Given the description of an element on the screen output the (x, y) to click on. 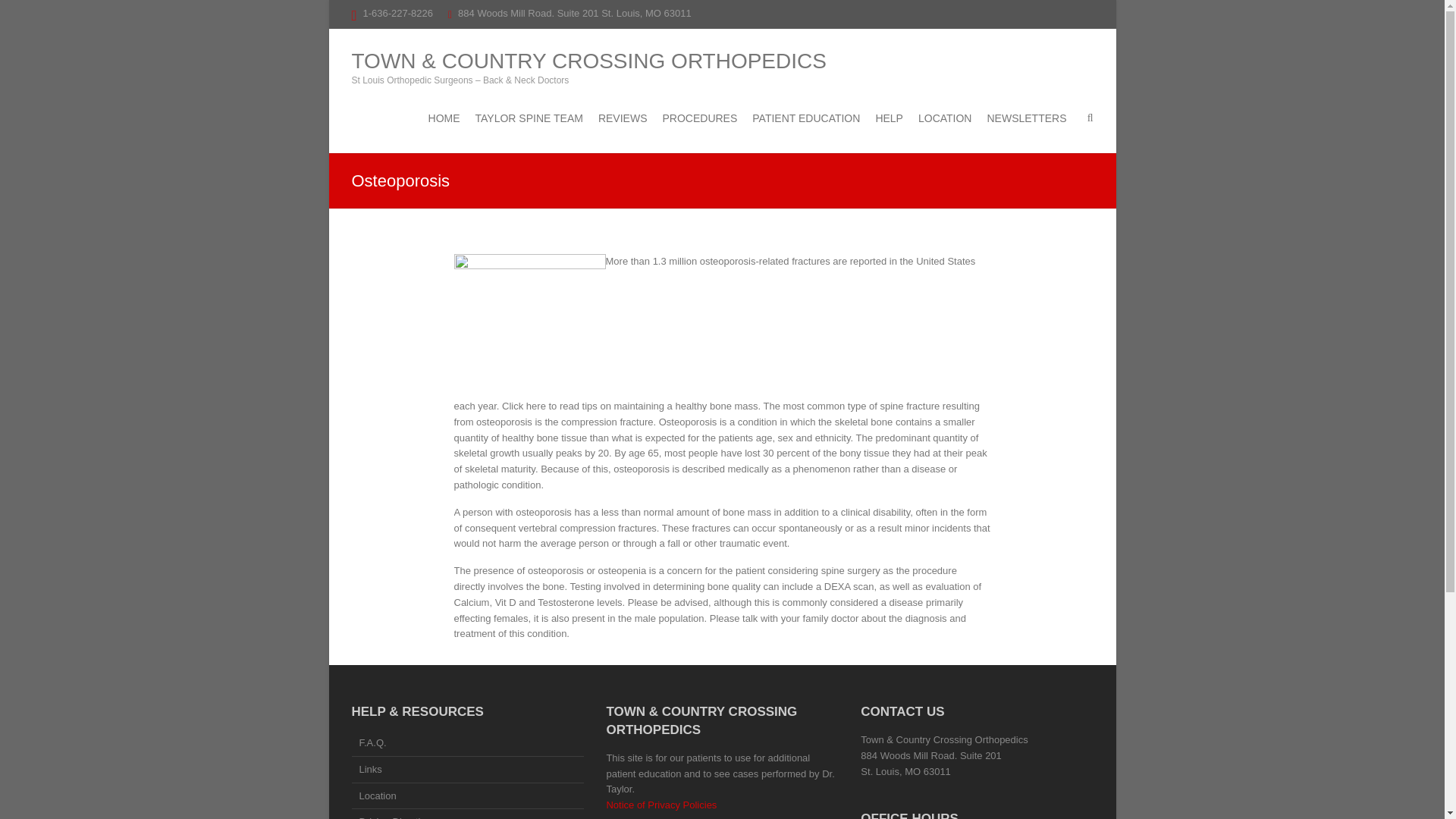
osteo (528, 325)
1-636-227-8226 (397, 12)
LOCATION (945, 118)
NEWSLETTERS (1026, 118)
TAYLOR SPINE TEAM (529, 118)
Links (467, 770)
PATIENT EDUCATION (806, 118)
F.A.Q. (467, 744)
Location (467, 797)
 Call Us  (397, 12)
PROCEDURES (699, 118)
REVIEWS (622, 118)
Driving Directions (467, 815)
Notice of Privacy Policies (660, 804)
